Given the description of an element on the screen output the (x, y) to click on. 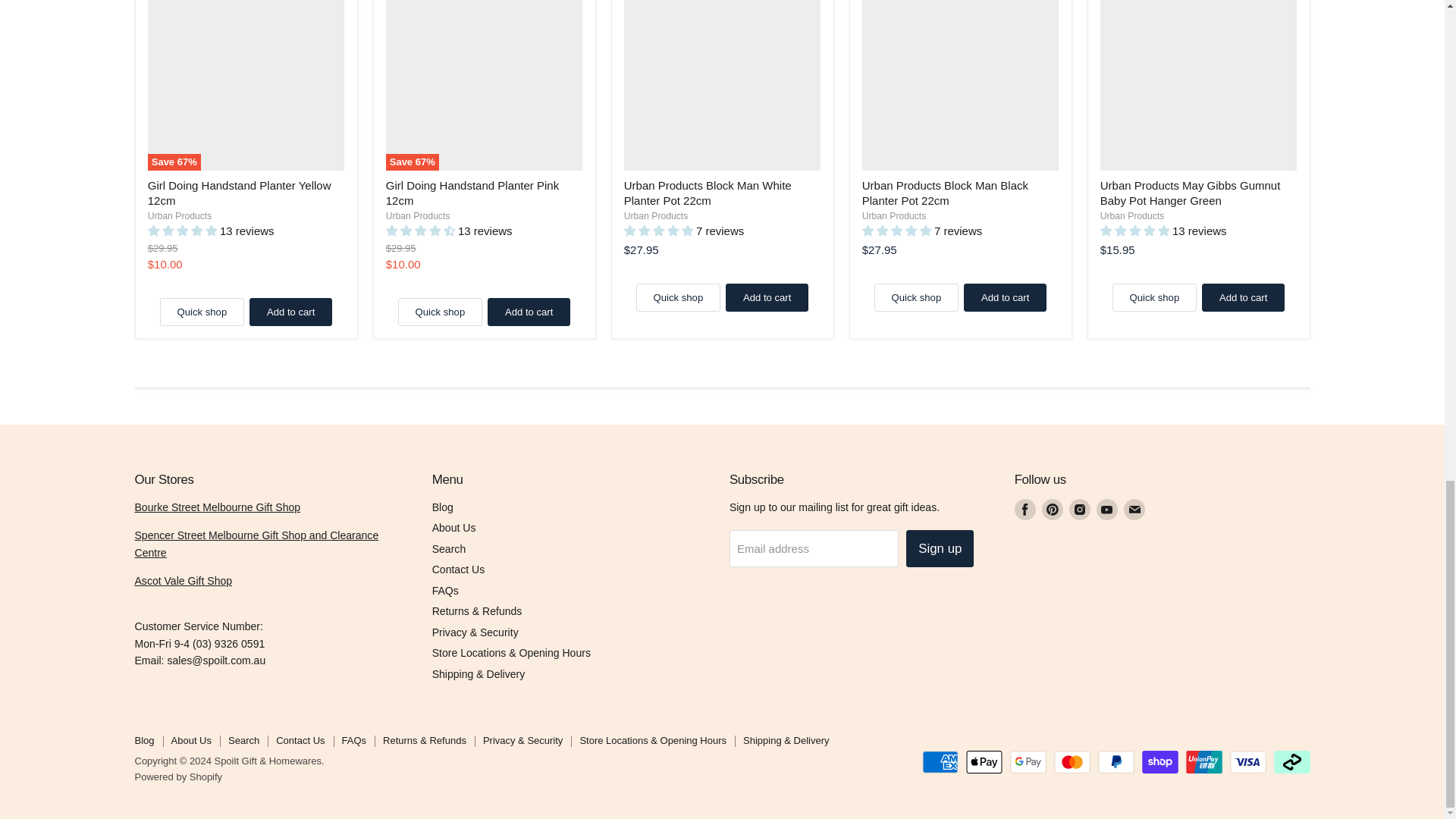
American Express (939, 762)
Apple Pay (984, 762)
